Given the description of an element on the screen output the (x, y) to click on. 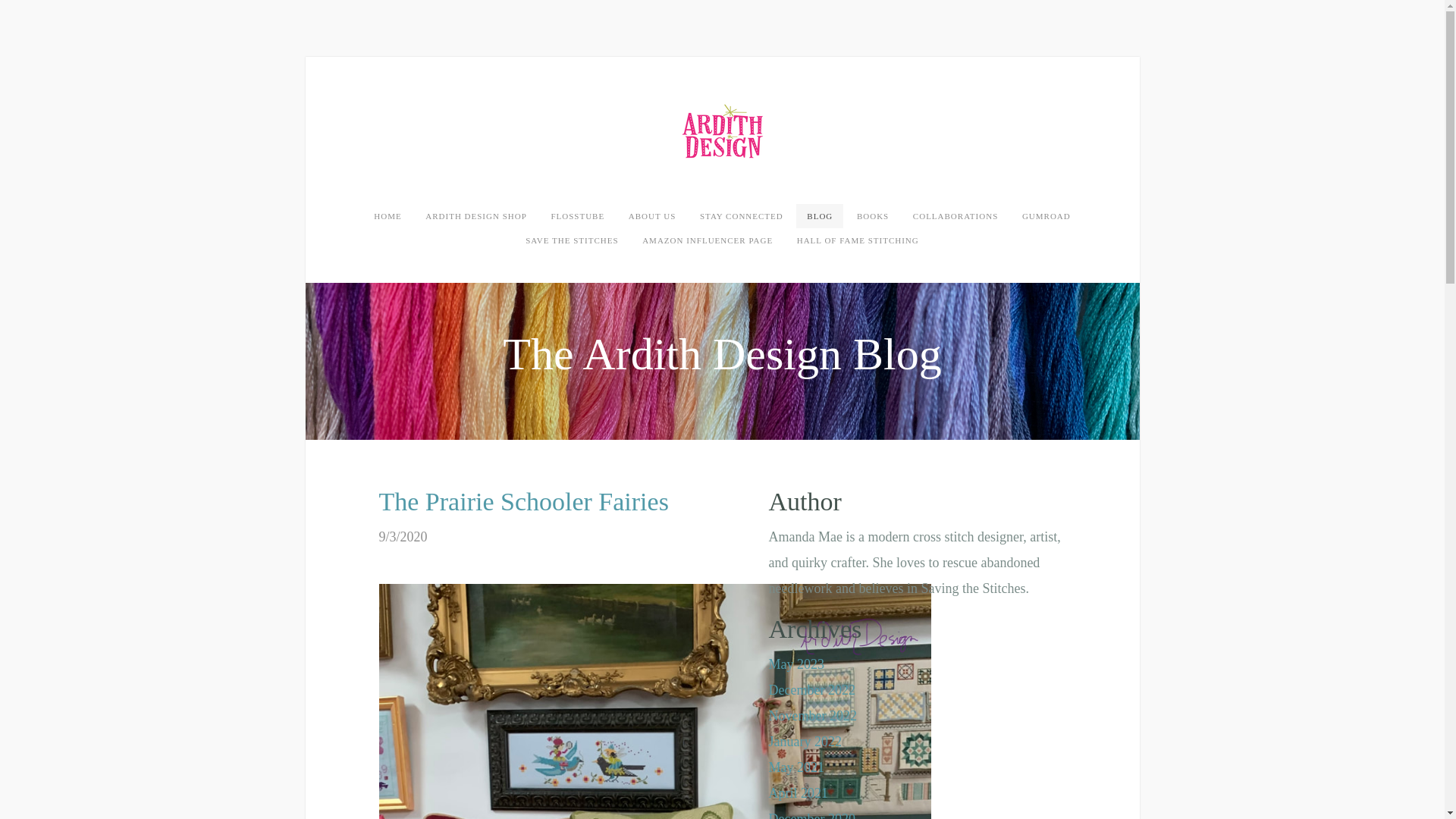
HOME (387, 215)
May 2023 (796, 663)
BOOKS (872, 215)
GUMROAD (1046, 215)
May 2021 (796, 767)
AMAZON INFLUENCER PAGE (707, 240)
HALL OF FAME STITCHING (858, 240)
December 2022 (812, 689)
November 2022 (812, 715)
ARDITH DESIGN SHOP (475, 215)
STAY CONNECTED (740, 215)
BLOG (819, 215)
January 2022 (804, 741)
SAVE THE STITCHES (571, 240)
ABOUT US (652, 215)
